Given the description of an element on the screen output the (x, y) to click on. 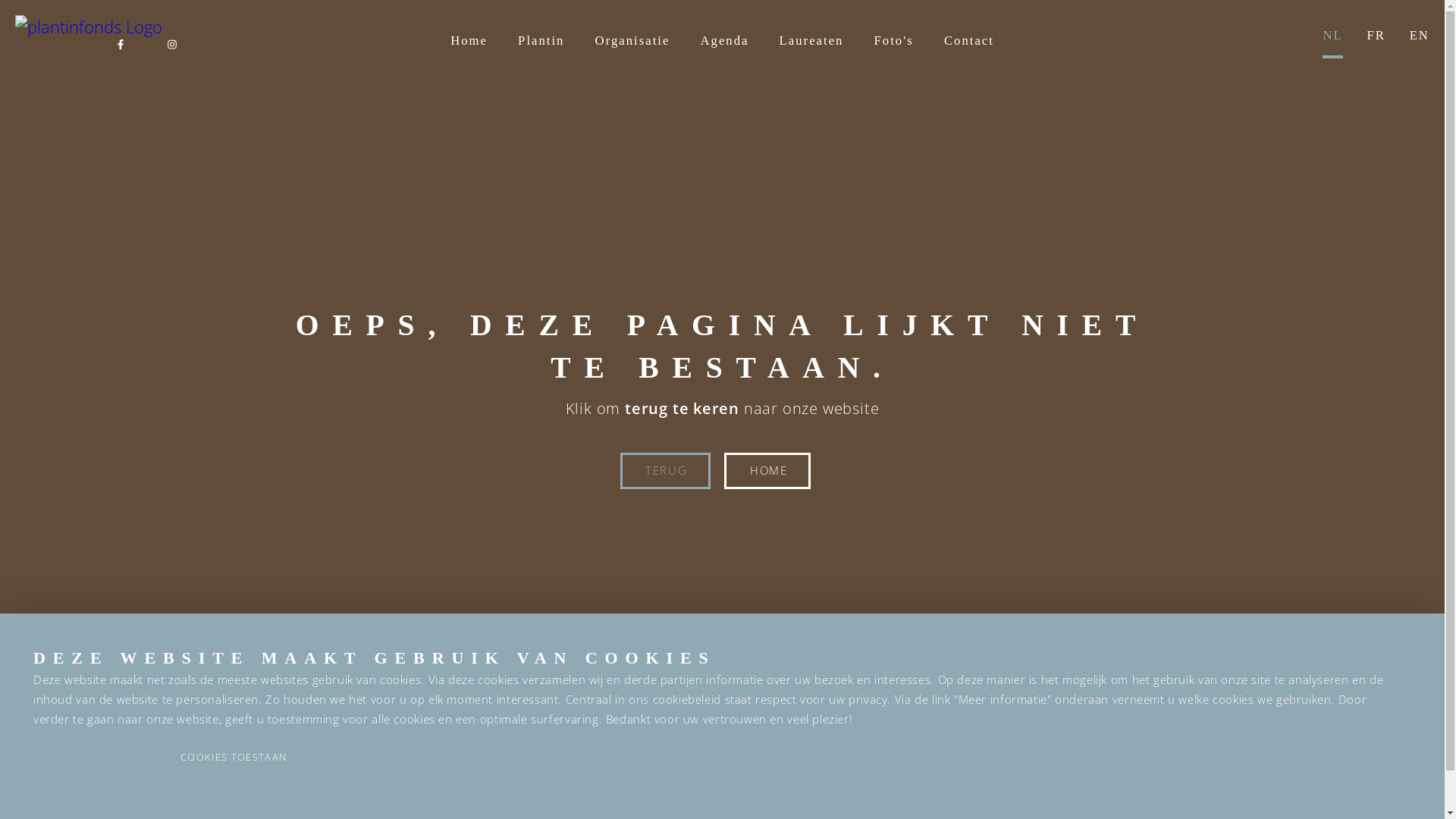
Organisatie Element type: text (632, 51)
Home Element type: text (468, 51)
Foto's Element type: text (893, 51)
Contact Element type: text (969, 51)
FR Element type: text (1375, 35)
Laureaten Element type: text (811, 51)
HOME Element type: text (767, 470)
Agenda Element type: text (724, 51)
EN Element type: text (1419, 35)
MEER INFO Element type: text (88, 757)
NL Element type: text (1332, 35)
Plantin Element type: text (540, 51)
